Given the description of an element on the screen output the (x, y) to click on. 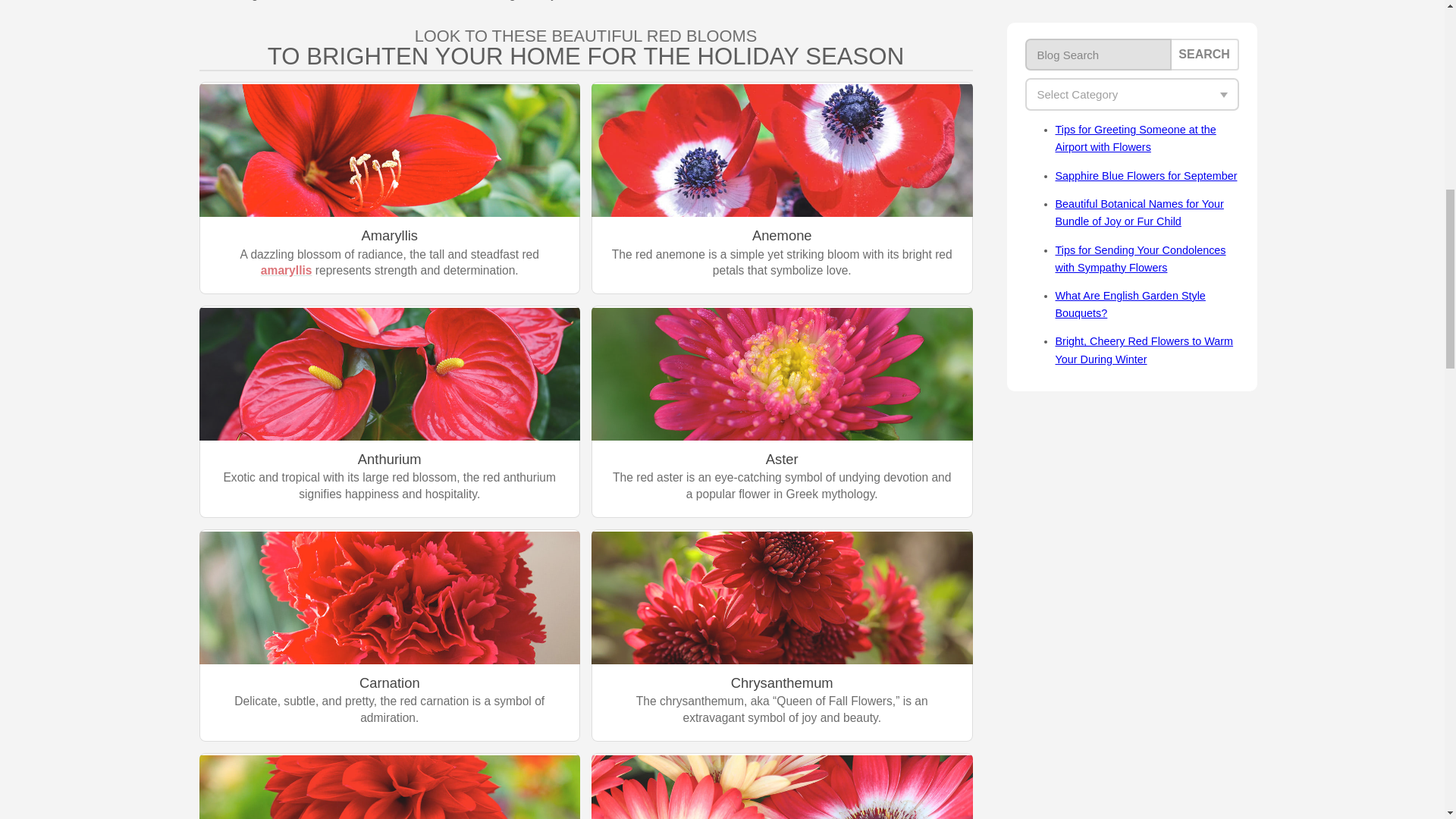
amaryllis (286, 269)
